Given the description of an element on the screen output the (x, y) to click on. 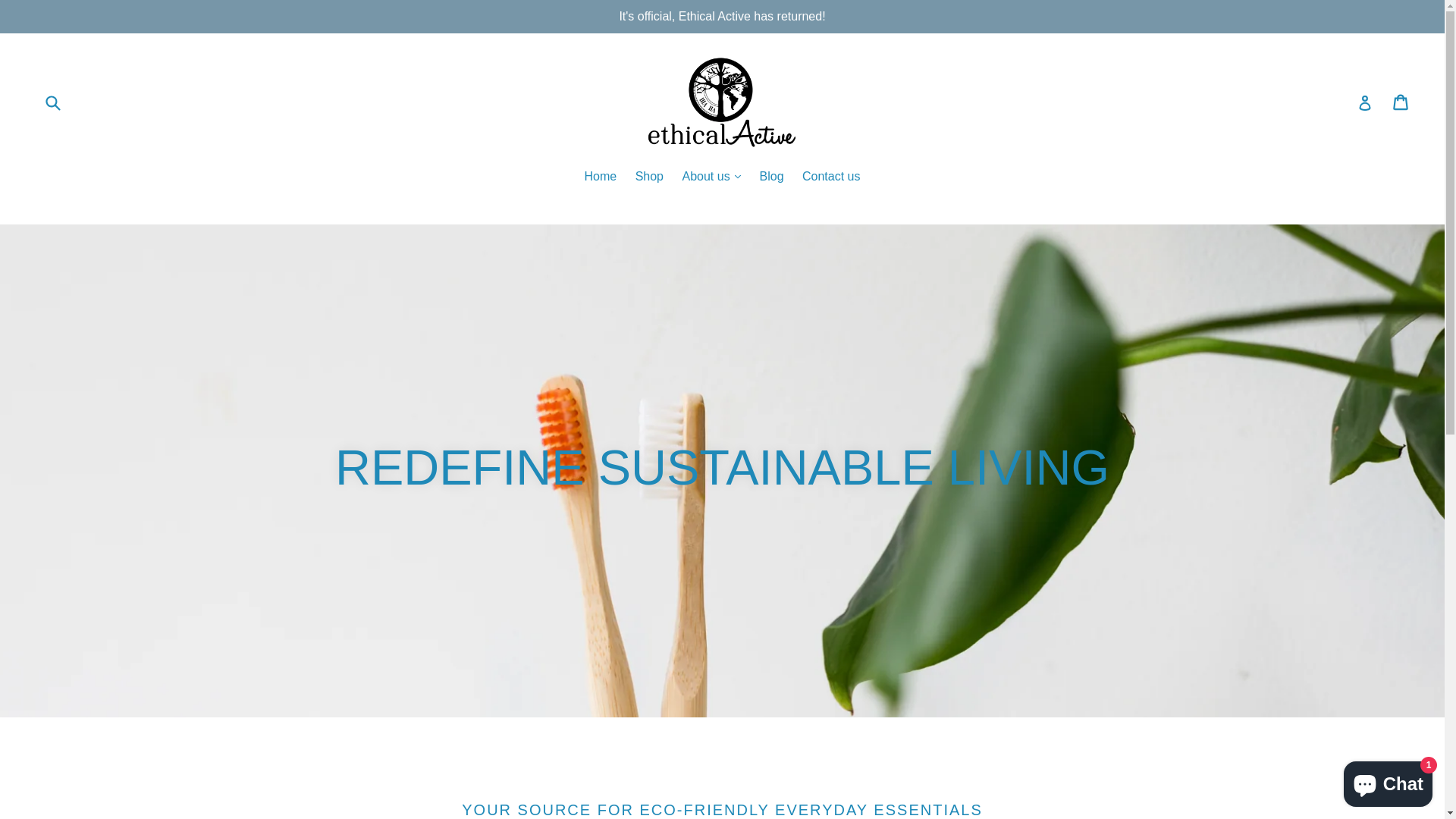
Cart
Cart Element type: text (1401, 101)
Log in Element type: text (1364, 102)
Shop Element type: text (649, 177)
Contact us Element type: text (830, 177)
Submit Element type: text (51, 101)
Shopify online store chat Element type: hover (1388, 780)
Home Element type: text (600, 177)
Blog Element type: text (771, 177)
